Given the description of an element on the screen output the (x, y) to click on. 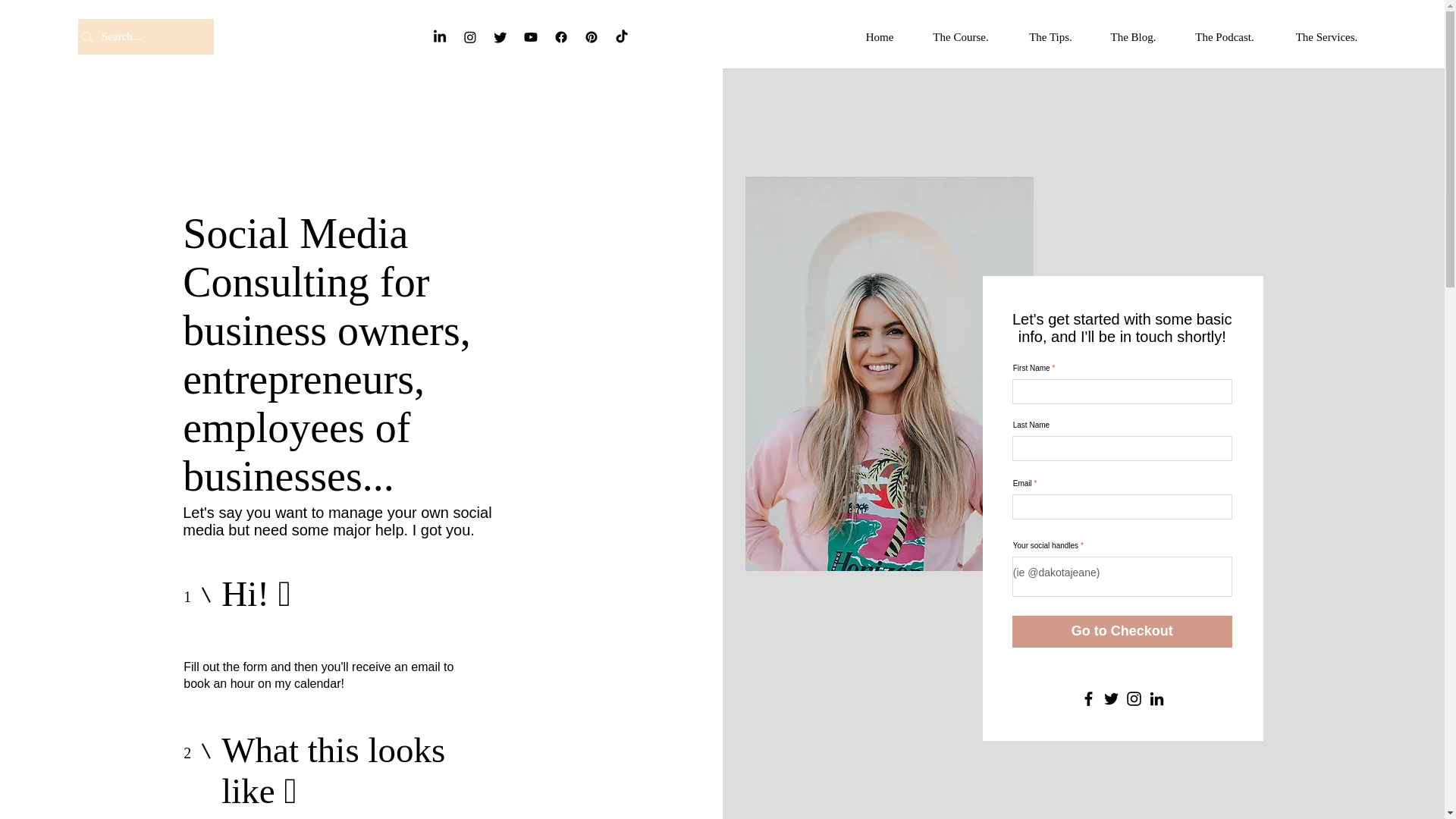
The Services. (1326, 37)
The Tips. (1050, 37)
The Blog. (1133, 37)
Go to Checkout (1121, 631)
The Podcast. (1224, 37)
Home (879, 37)
The Course. (960, 37)
